Given the description of an element on the screen output the (x, y) to click on. 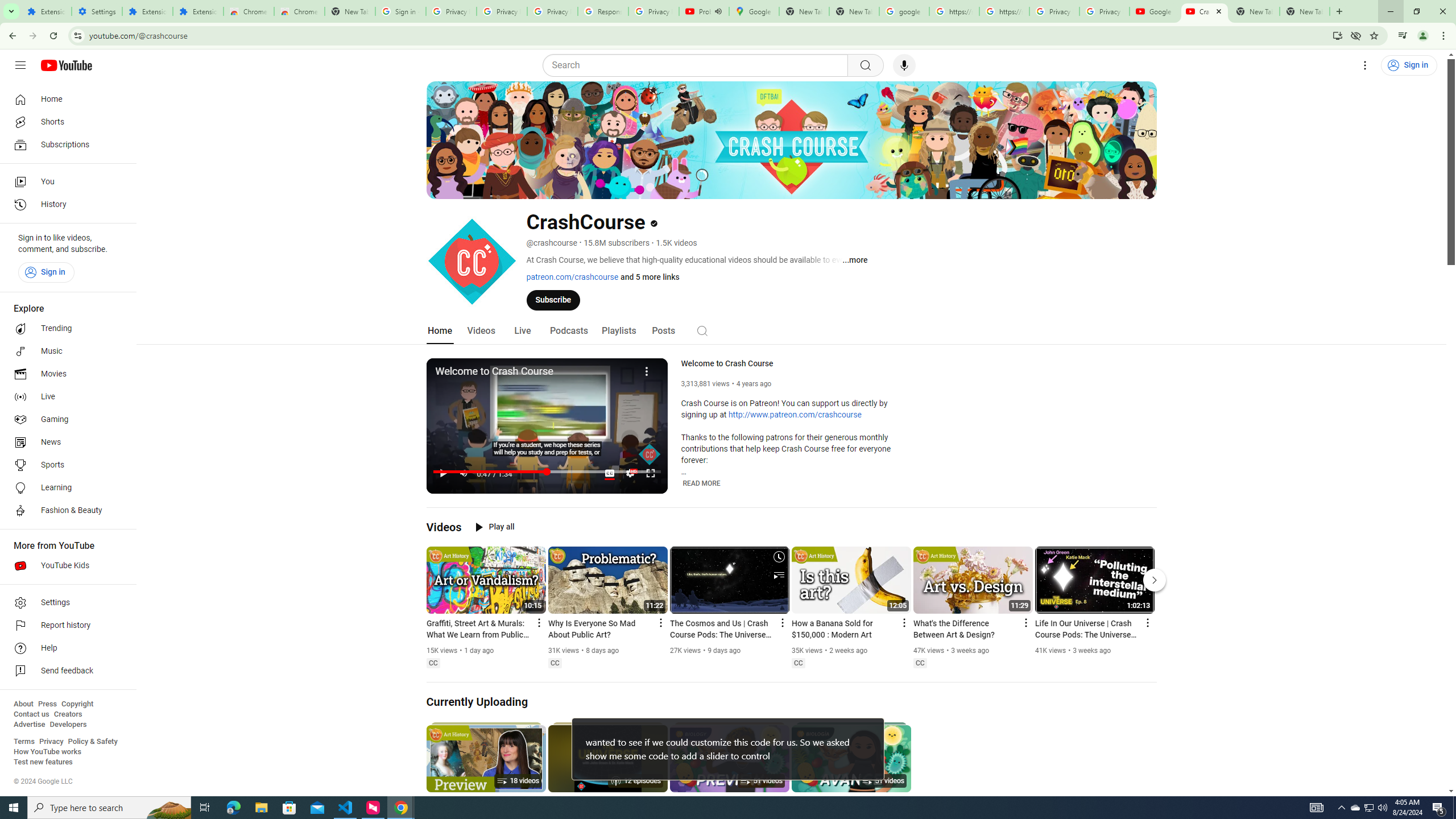
Extensions (46, 11)
System (6, 6)
Minimize (1390, 11)
patreon.com/crashcourse (571, 276)
Posts (663, 330)
Seek slider (546, 471)
and 5 more links (649, 276)
Chrome Web Store - Themes (299, 11)
Next (1154, 579)
https://scholar.google.com/ (954, 11)
Chrome Web Store (248, 11)
Send feedback (64, 671)
